Given the description of an element on the screen output the (x, y) to click on. 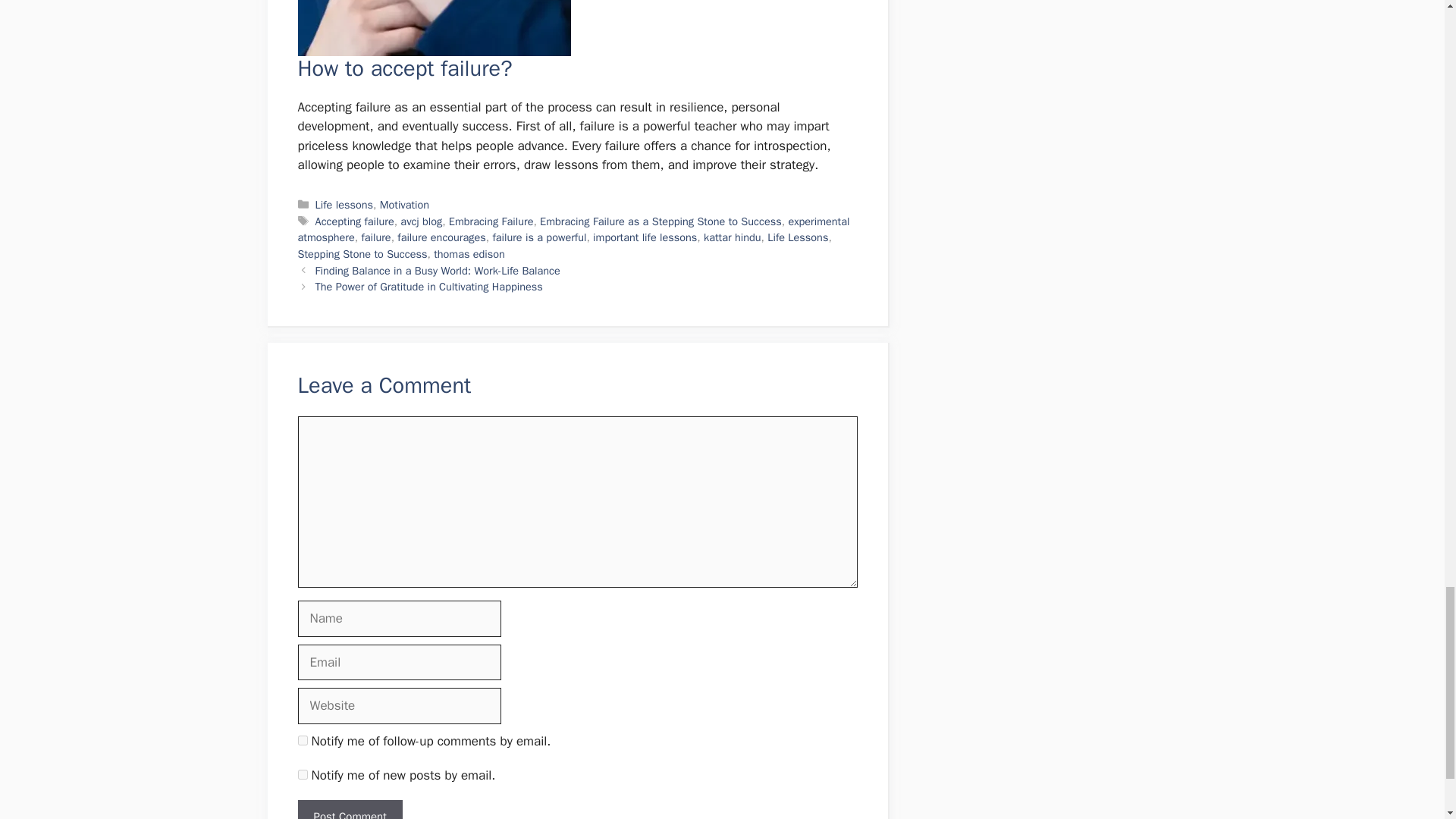
subscribe (302, 774)
Accepting failure (354, 221)
avcj blog (421, 221)
Embracing Failure as a Stepping Stone to Success (660, 221)
Post Comment (349, 809)
Embracing Failure (491, 221)
subscribe (302, 740)
Life lessons (343, 204)
Motivation (404, 204)
